Given the description of an element on the screen output the (x, y) to click on. 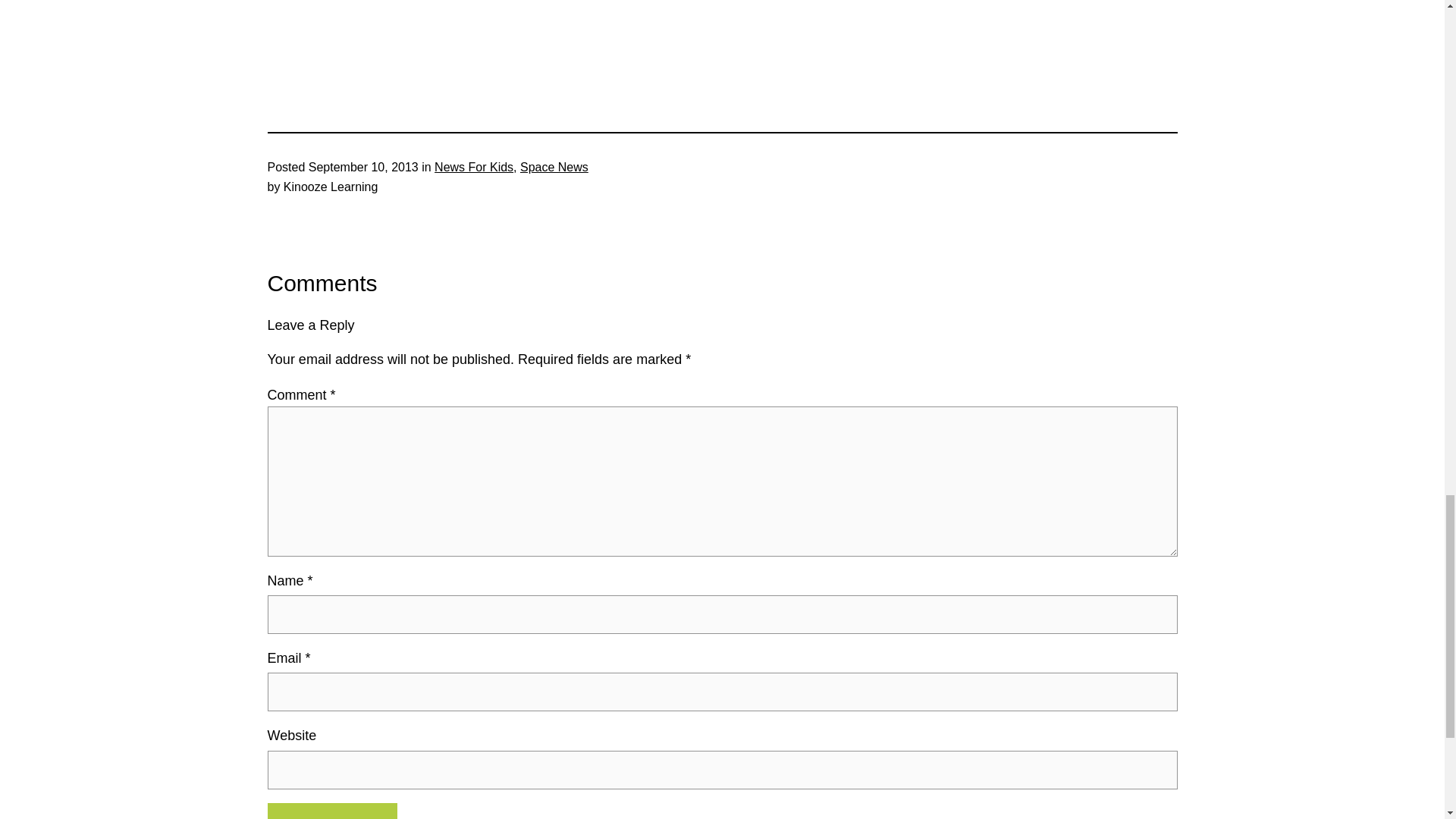
Post Comment (331, 811)
News For Kids (473, 166)
Space News (553, 166)
Post Comment (331, 811)
